Given the description of an element on the screen output the (x, y) to click on. 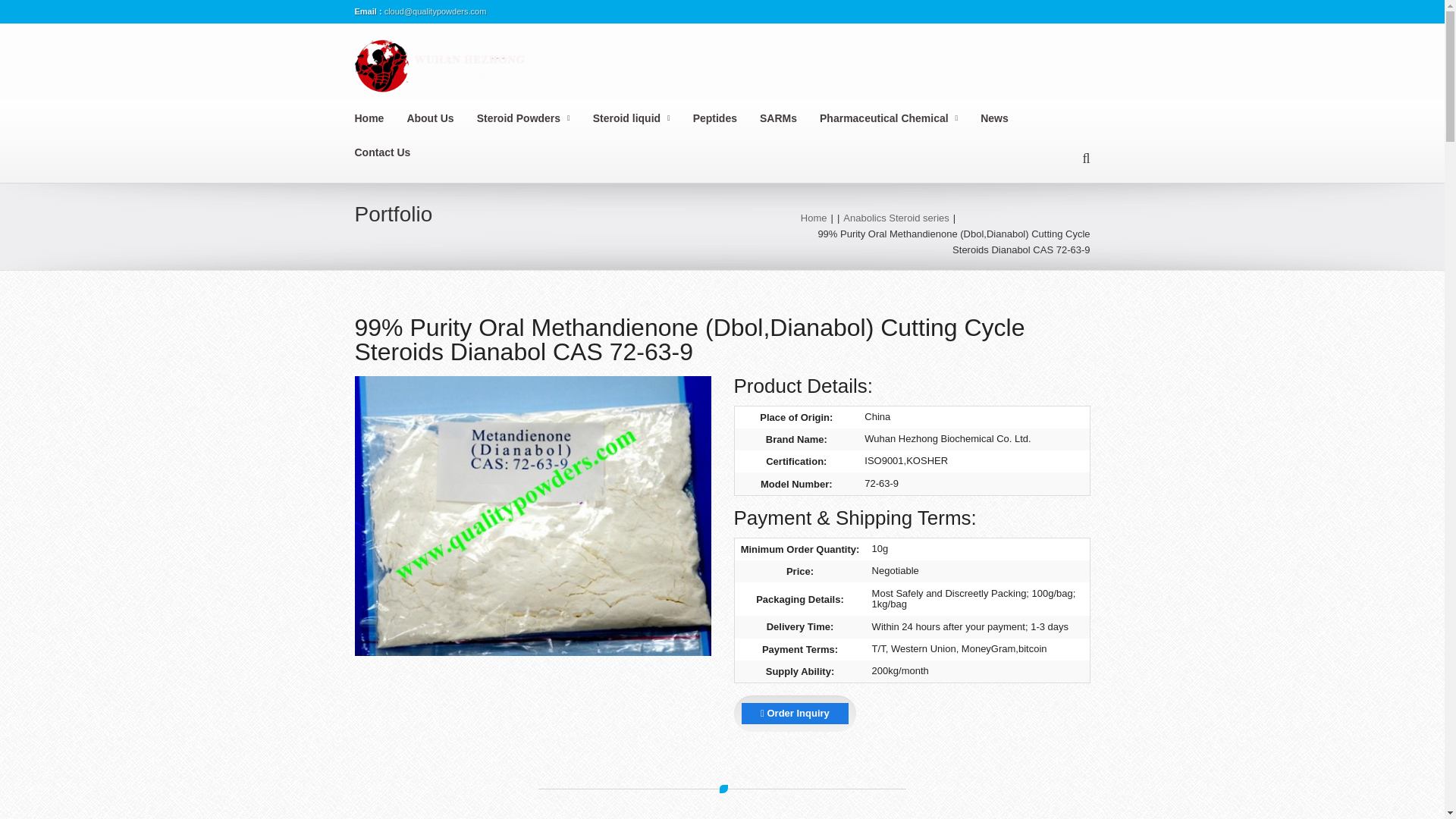
Home (813, 217)
Steroid Powders (534, 118)
SARMs (789, 118)
Steroid liquid (642, 118)
Peptides (726, 118)
Home (381, 118)
Pharmaceutical Chemical (899, 118)
News (1004, 118)
About Us (441, 118)
Contact Us (394, 152)
